Given the description of an element on the screen output the (x, y) to click on. 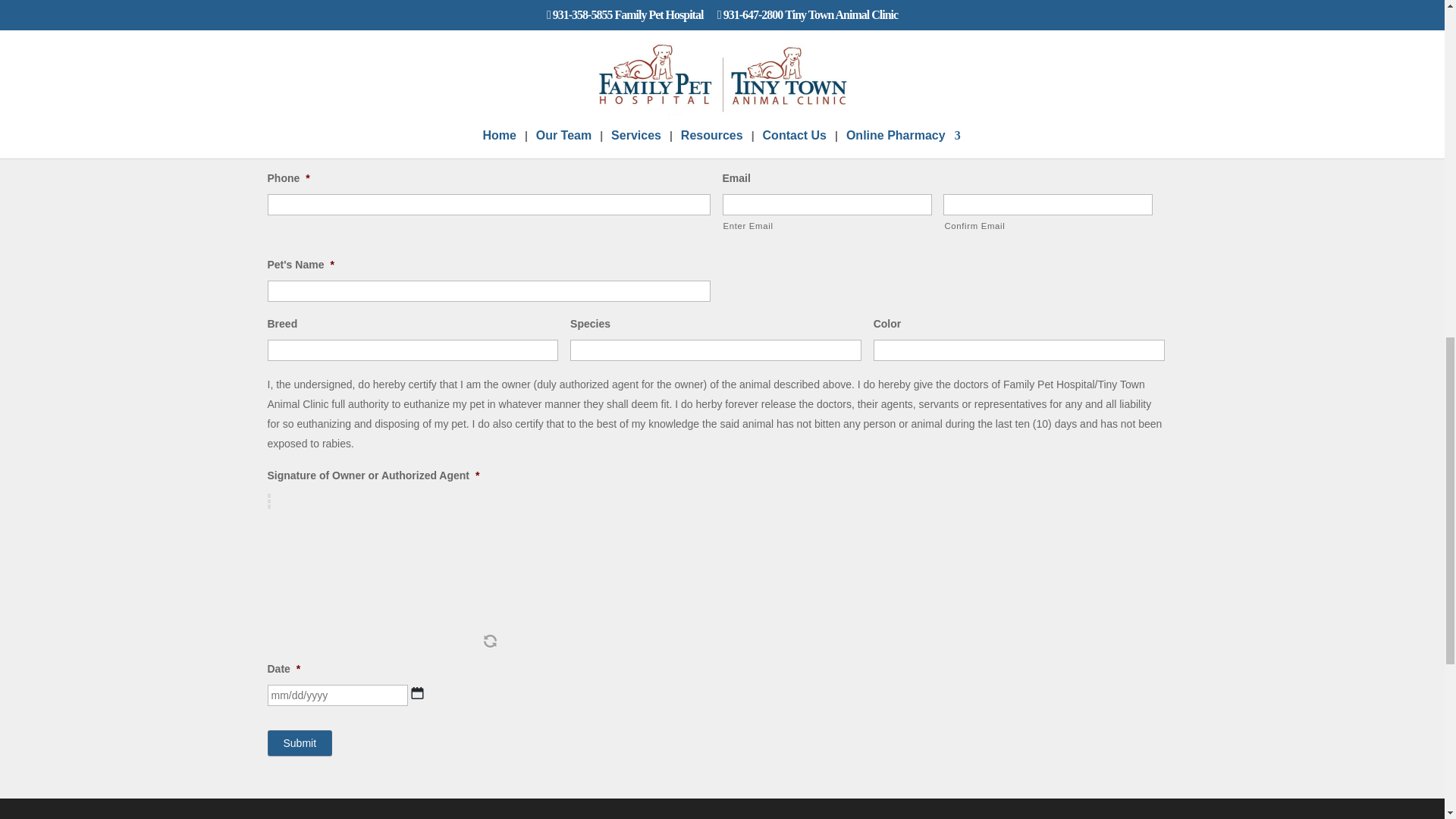
Submit (298, 742)
Select date (416, 693)
Submit (298, 742)
